Given the description of an element on the screen output the (x, y) to click on. 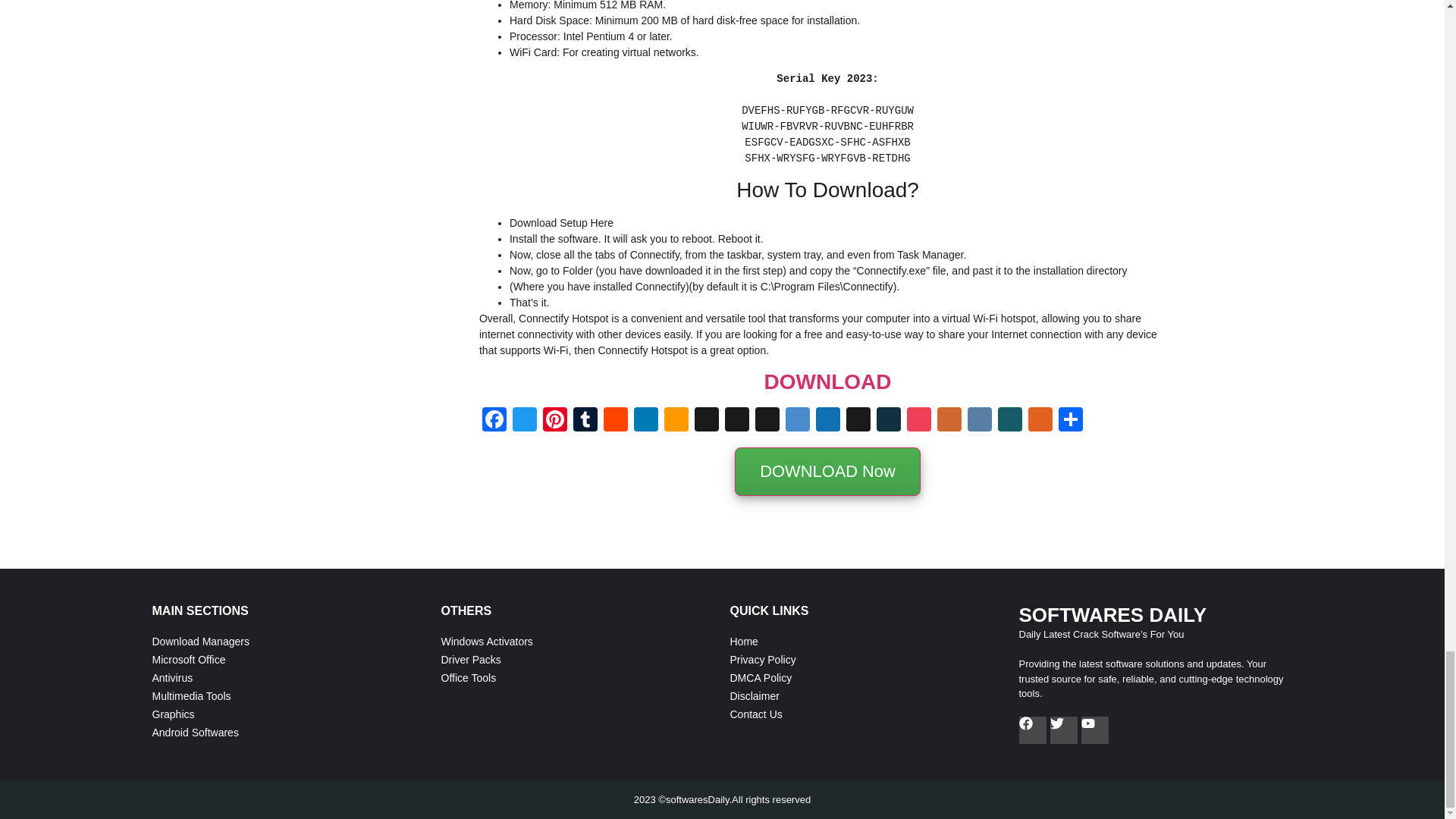
Tumblr (584, 420)
Facebook (494, 420)
Twitter (524, 420)
Pinterest (555, 420)
